Given the description of an element on the screen output the (x, y) to click on. 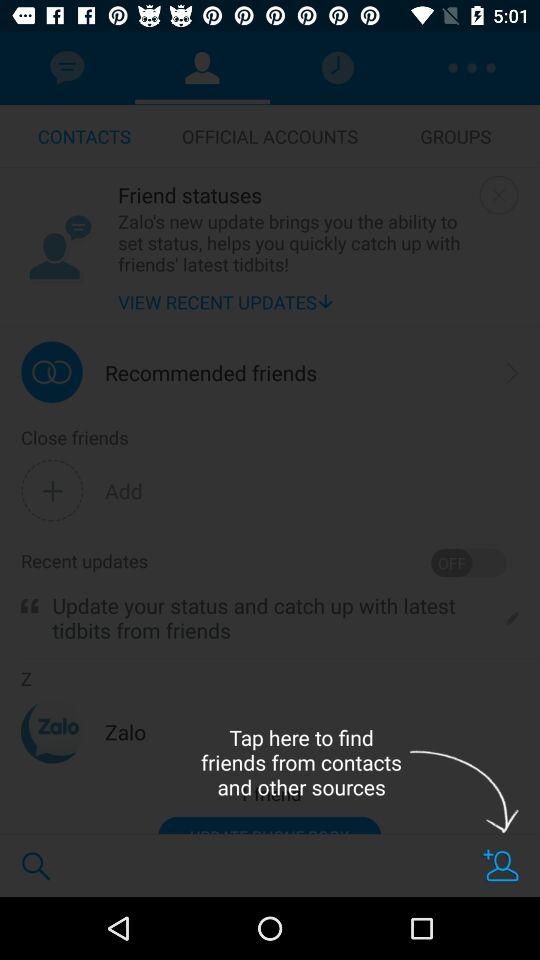
turn off icon next to the friend statuses icon (59, 247)
